Given the description of an element on the screen output the (x, y) to click on. 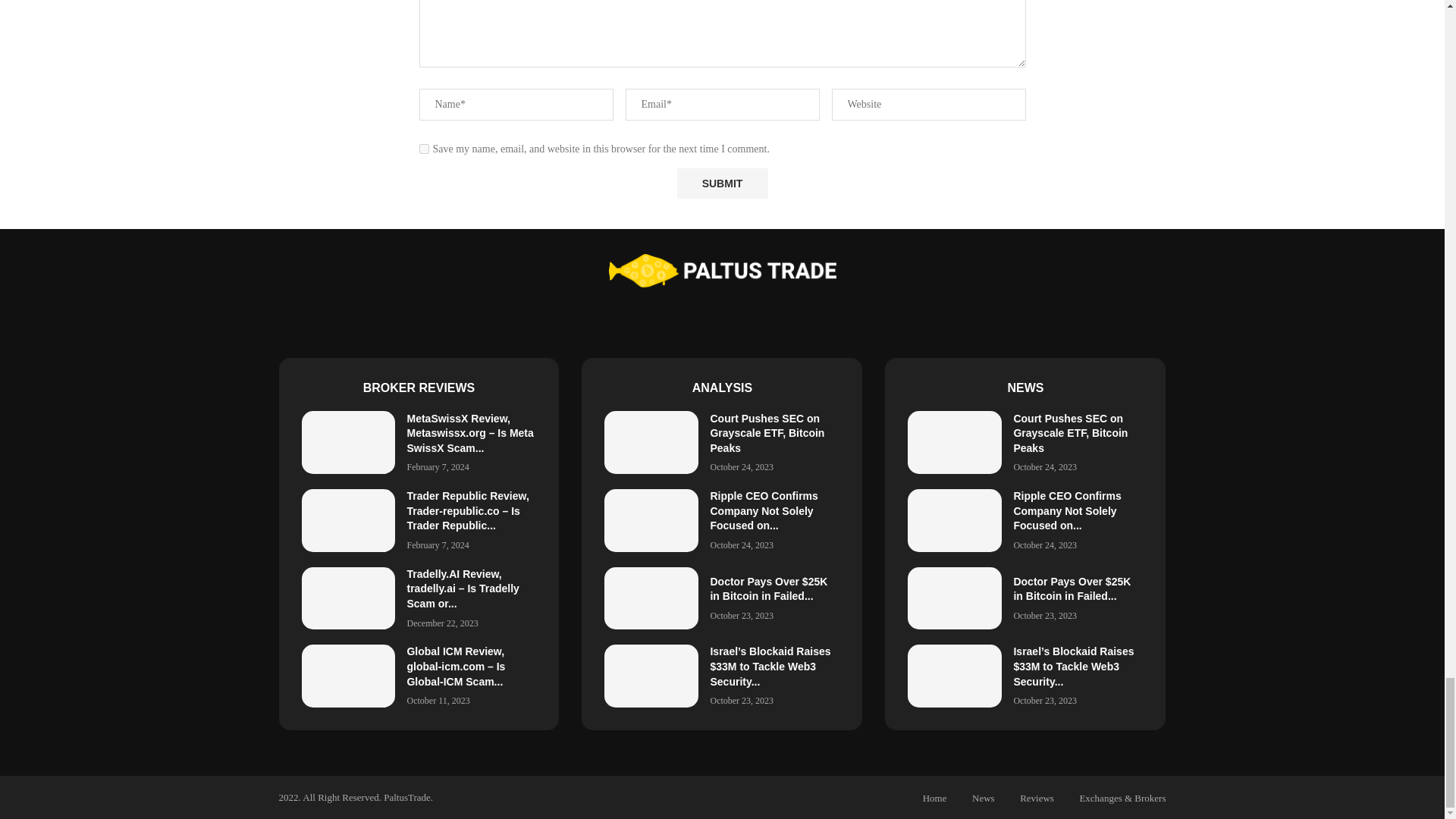
yes (423, 148)
Submit (722, 183)
